Given the description of an element on the screen output the (x, y) to click on. 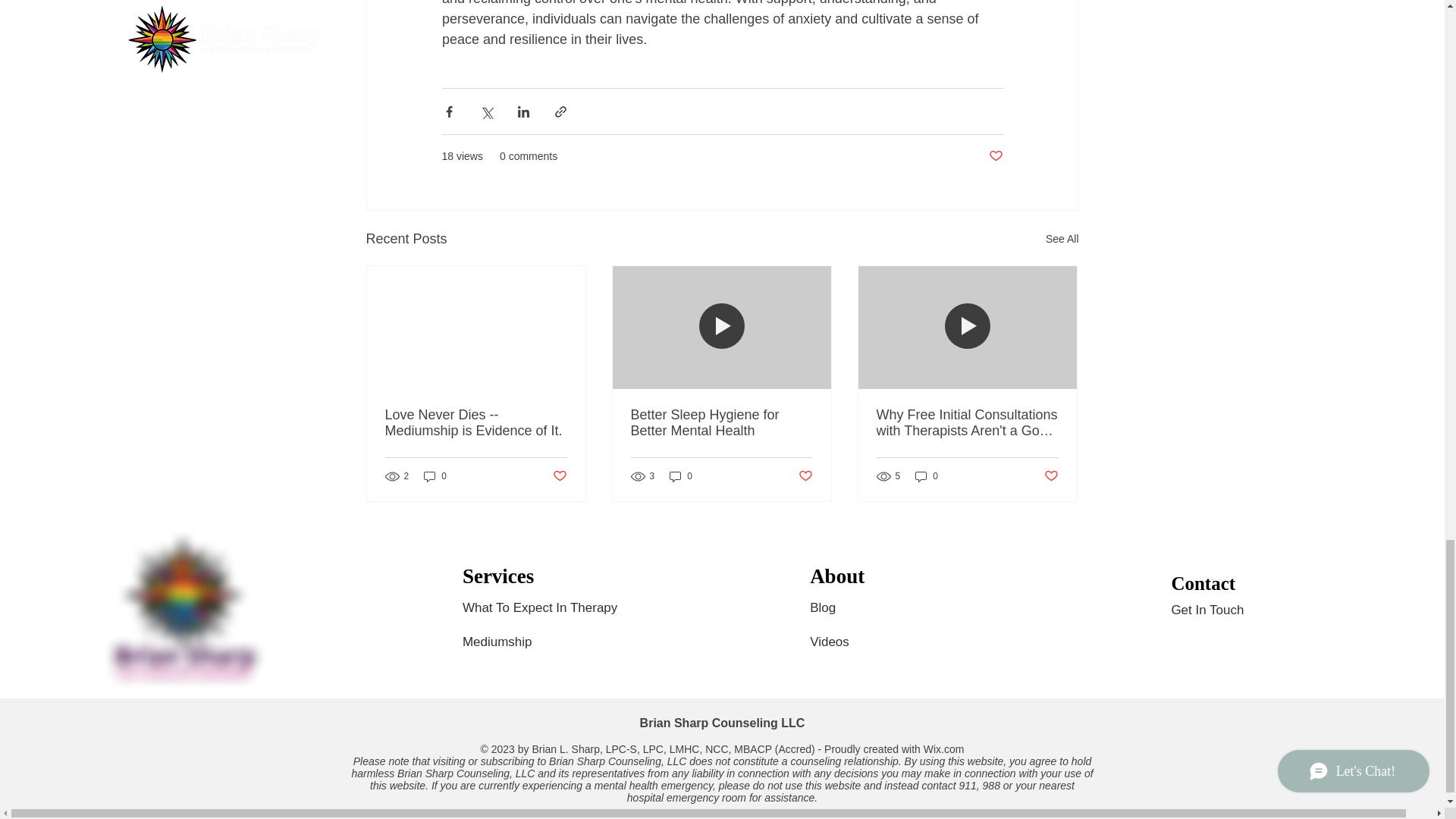
Better Sleep Hygiene for Better Mental Health (721, 422)
Post not marked as liked (995, 156)
Blog (824, 607)
Post not marked as liked (804, 476)
0 (681, 476)
Videos (841, 642)
See All (1061, 239)
About (836, 572)
0 (926, 476)
Post not marked as liked (1050, 476)
0 (435, 476)
Love Never Dies -- Mediumship is Evidence of It. (476, 422)
What To Expect In Therapy (551, 607)
Post not marked as liked (558, 476)
